Given the description of an element on the screen output the (x, y) to click on. 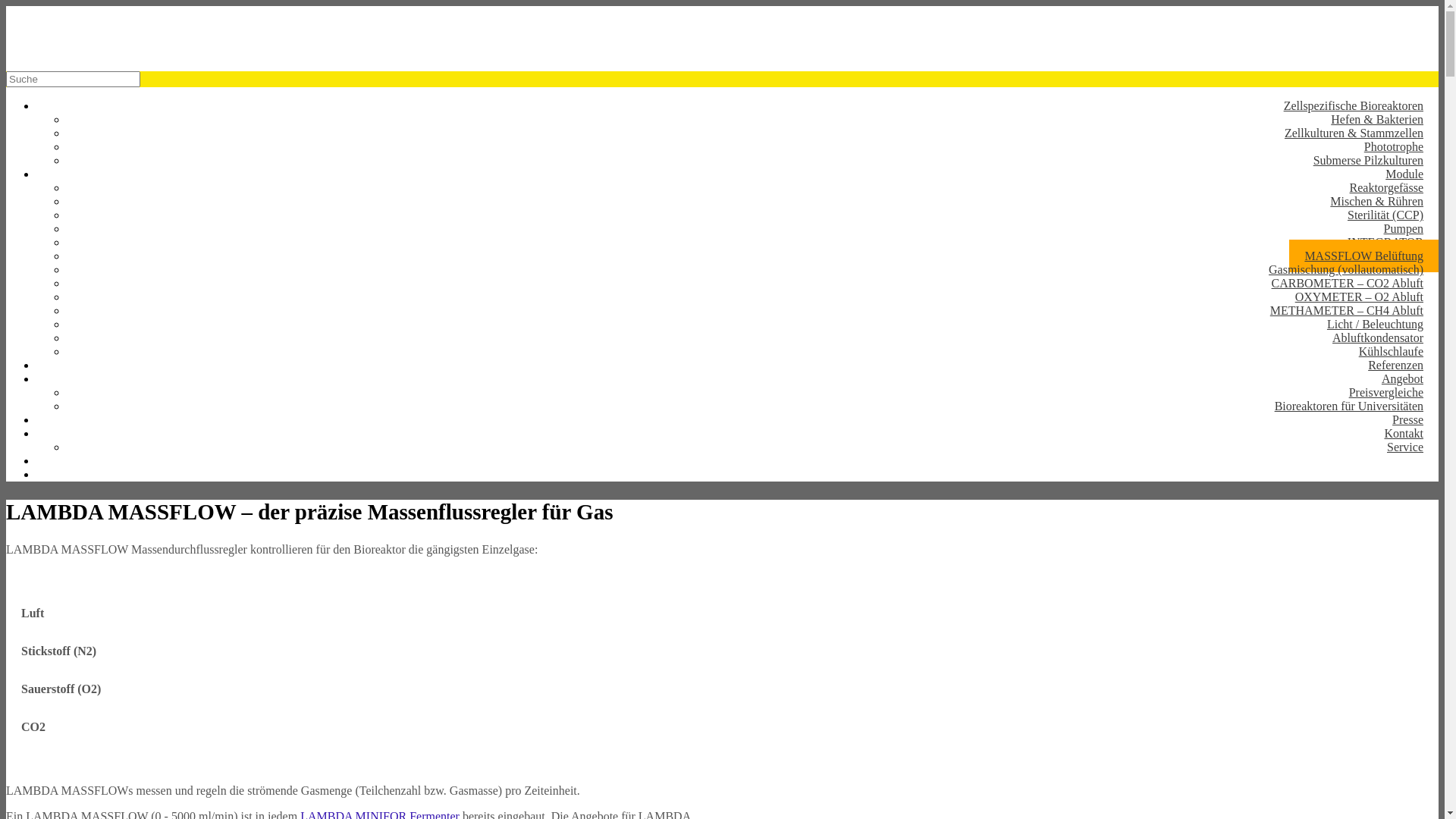
Submerse Pilzkulturen Element type: text (1368, 160)
Angebot Element type: text (1402, 378)
Pumpen Element type: text (1403, 228)
Preisvergleiche Element type: text (1385, 392)
Module Element type: text (1404, 173)
Zellkulturen & Stammzellen Element type: text (1353, 132)
INTEGRATOR Element type: text (1385, 241)
Gasmischung (vollautomatisch) Element type: text (1345, 269)
Referenzen Element type: text (1395, 364)
Phototrophe Element type: text (1393, 146)
Presse Element type: text (1407, 419)
Zellspezifische Bioreaktoren Element type: text (1353, 105)
Abluftkondensator Element type: text (1377, 337)
Service Element type: text (1404, 446)
Kontakt Element type: text (1403, 433)
Licht / Beleuchtung Element type: text (1374, 323)
Hefen & Bakterien Element type: text (1376, 119)
